Given the description of an element on the screen output the (x, y) to click on. 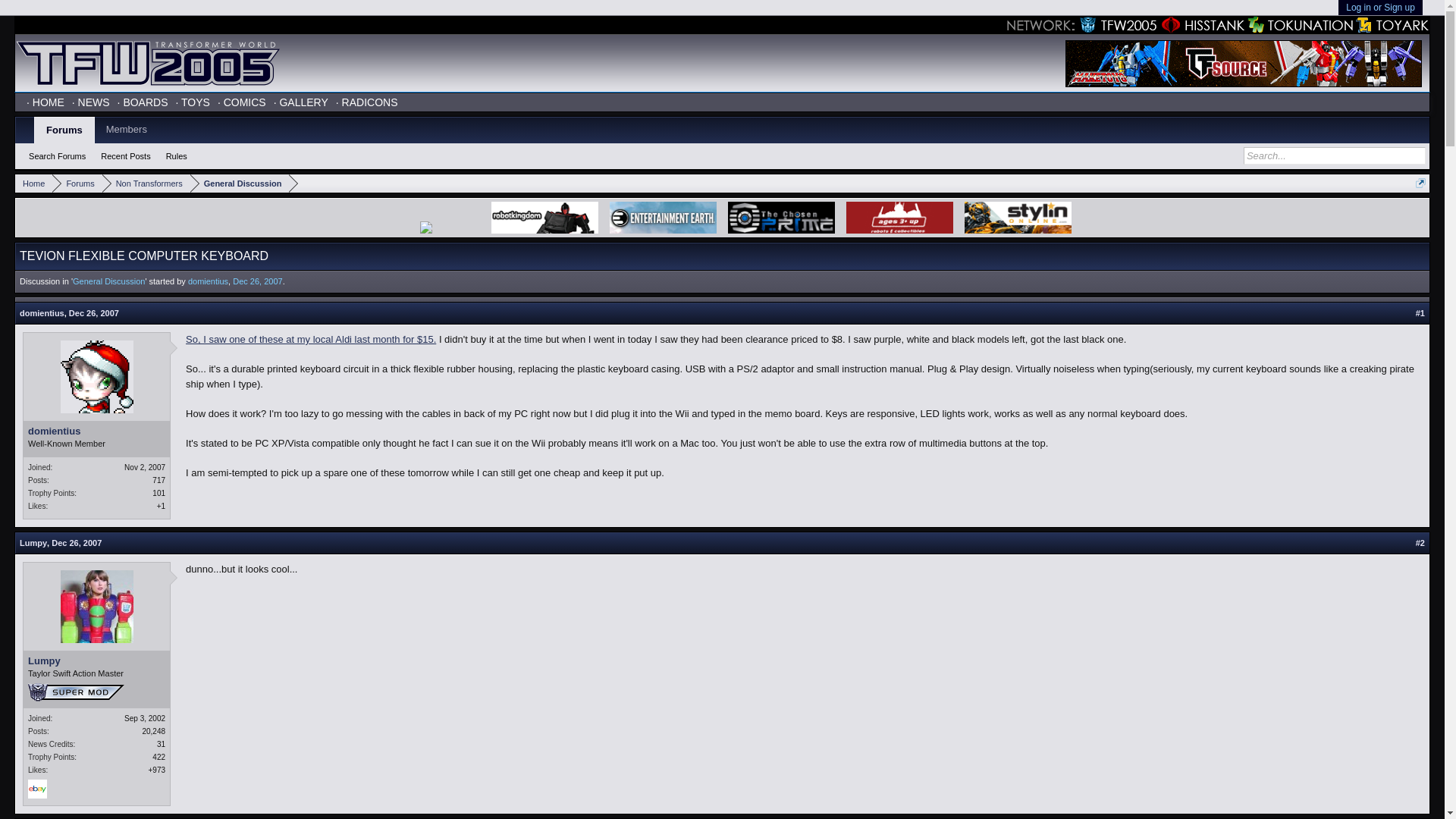
Non Transformers (145, 183)
Lumpy (96, 661)
General Discussion (108, 280)
Dec 26, 2007 (257, 280)
domientius (207, 280)
422 (158, 756)
domientius (42, 312)
20,248 (153, 731)
domientius (96, 431)
Dec 26, 2007 (75, 542)
Lumpy (33, 542)
Dec 26, 2007 (93, 312)
Open quick navigation (1420, 183)
Forums (76, 183)
Dec 26, 2007 at 11:27 PM (257, 280)
